Given the description of an element on the screen output the (x, y) to click on. 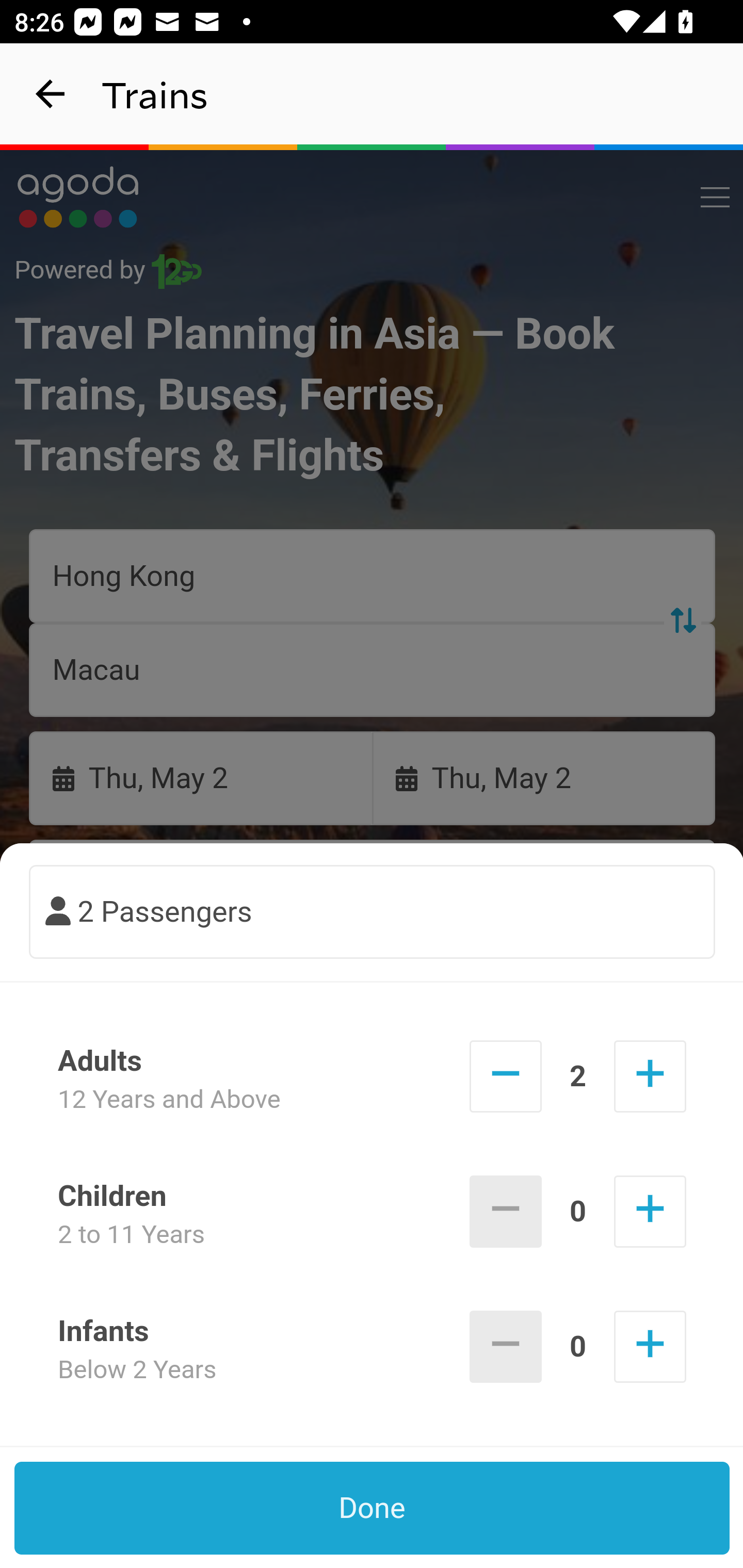
navigation_button (50, 93)
Find Tickets (372, 992)
Done (372, 1508)
